Given the description of an element on the screen output the (x, y) to click on. 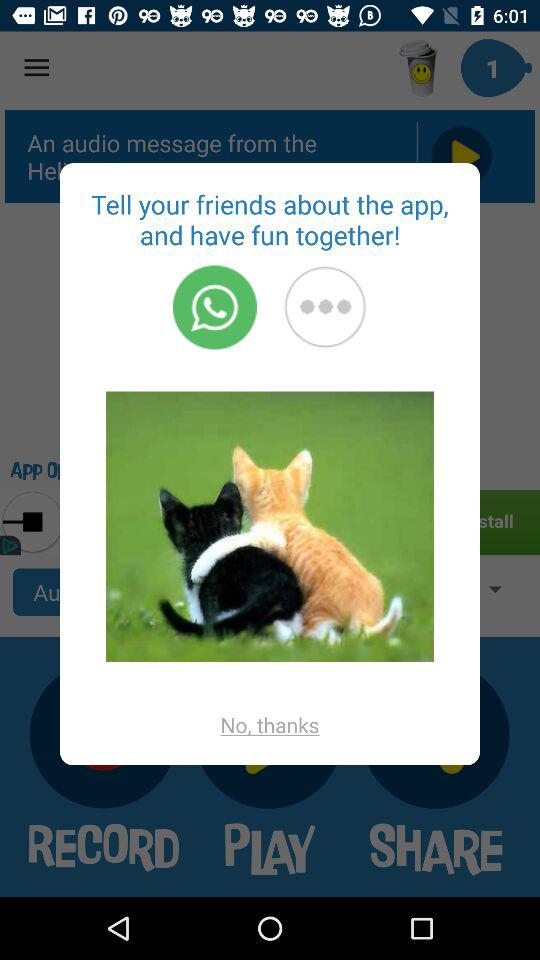
share the app (325, 307)
